Given the description of an element on the screen output the (x, y) to click on. 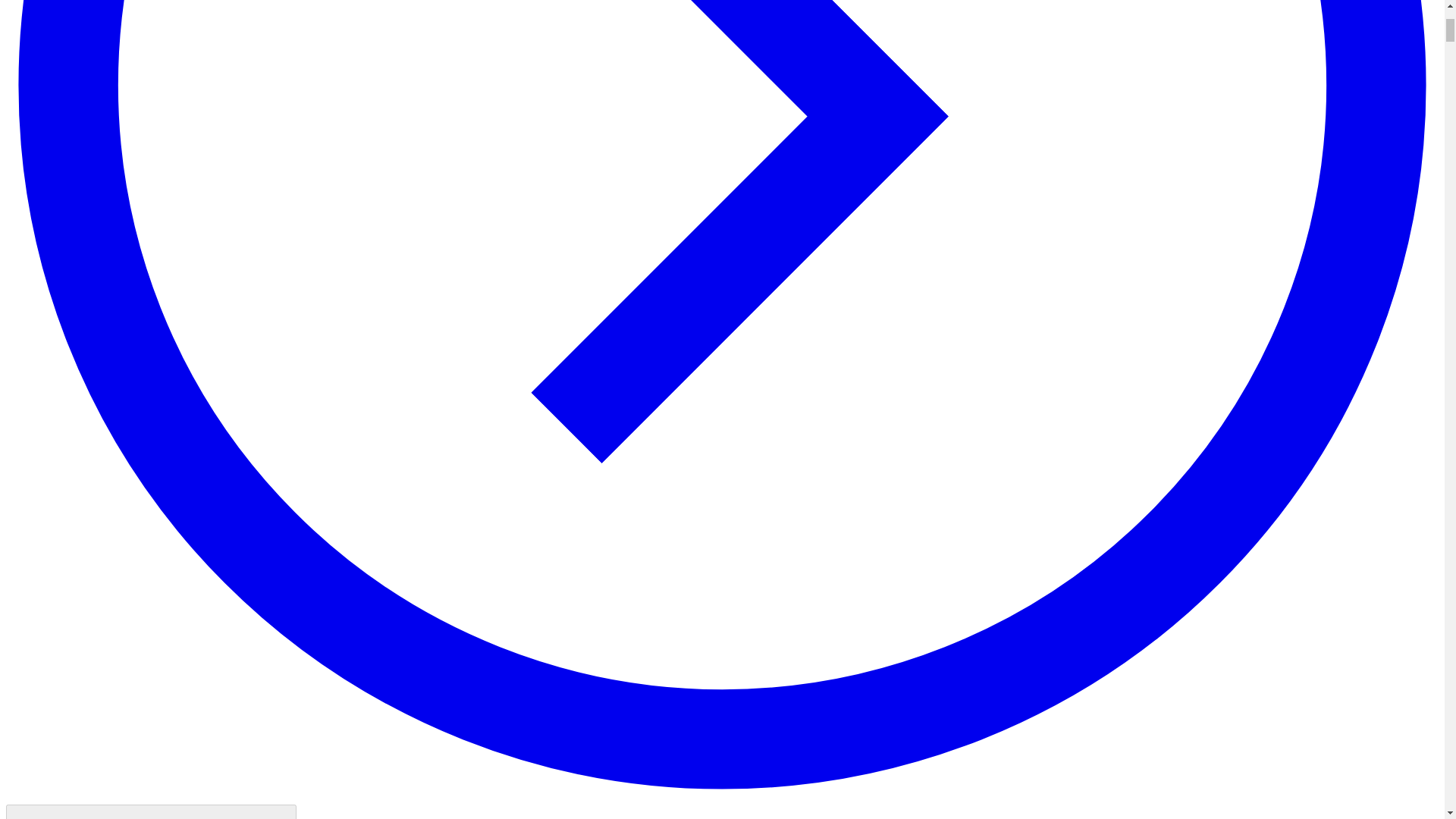
Close alert (151, 811)
